Given the description of an element on the screen output the (x, y) to click on. 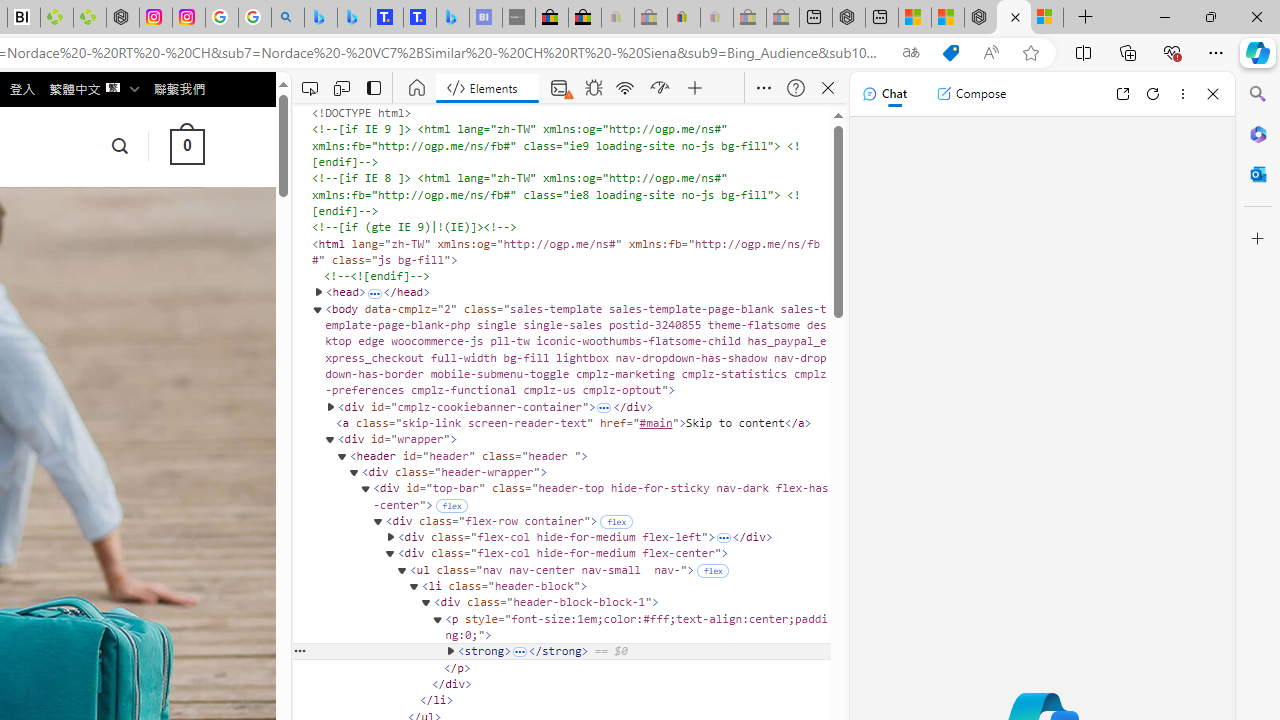
Performance (660, 88)
Show translate options (910, 53)
Outlook (1258, 174)
Help (796, 88)
Chat (884, 93)
Nordace - Nordace Edin Collection (123, 17)
Microsoft 365 (1258, 133)
Welcome (418, 88)
Yard, Garden & Outdoor Living - Sleeping (782, 17)
Restore (1210, 16)
